Given the description of an element on the screen output the (x, y) to click on. 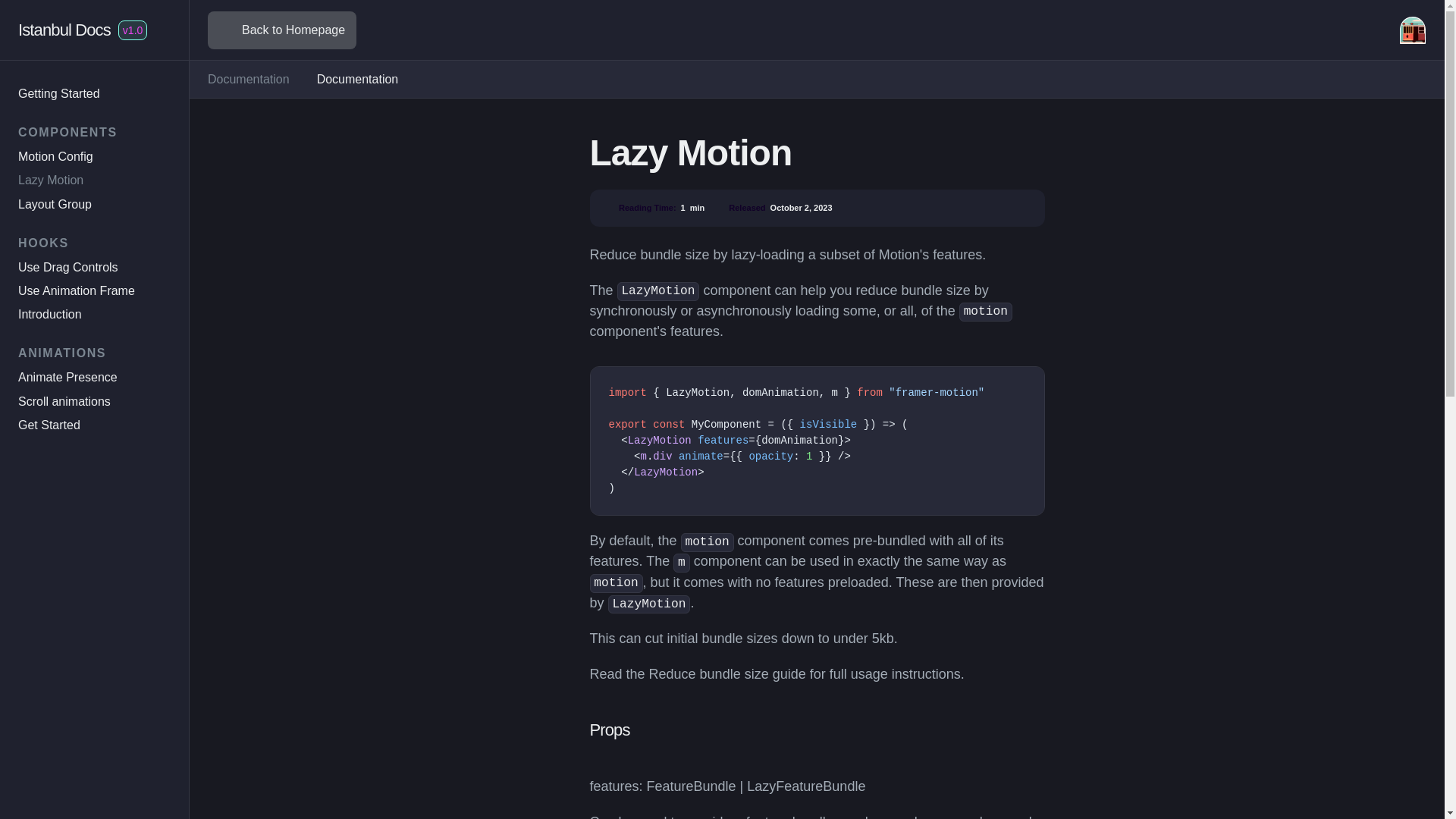
Motion Config (55, 155)
Animate Presence (67, 377)
Get Started (48, 424)
Lazy Motion (49, 179)
Layout Group (54, 204)
Documentation (248, 78)
Introduction (49, 314)
Scroll animations (63, 400)
Use Drag Controls (67, 267)
Istanbul Docs (63, 29)
Use Animation Frame (76, 290)
Getting Started (58, 92)
Back to Homepage (282, 30)
